Given the description of an element on the screen output the (x, y) to click on. 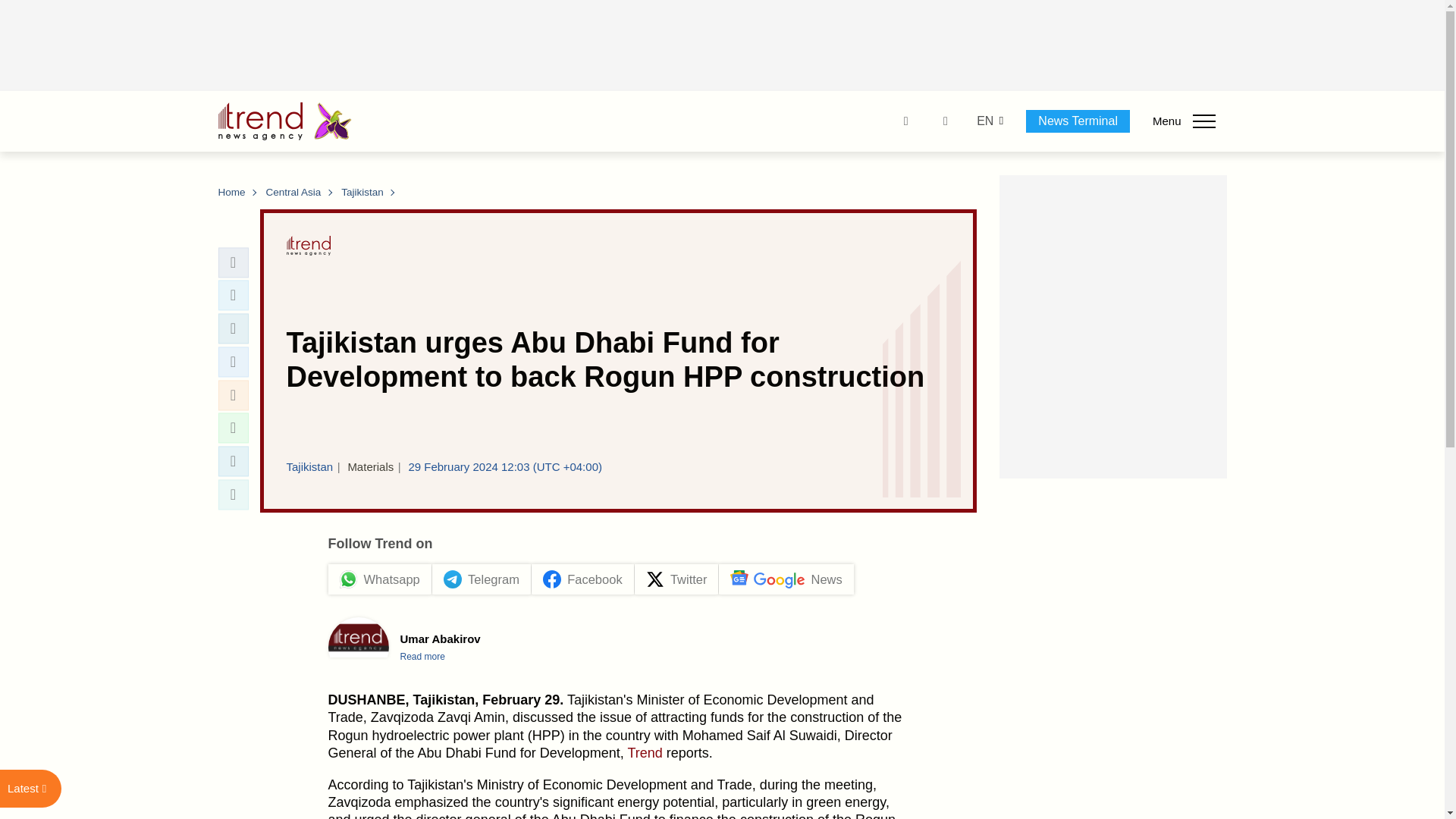
EN (984, 121)
News Terminal (1077, 120)
English (984, 121)
